Given the description of an element on the screen output the (x, y) to click on. 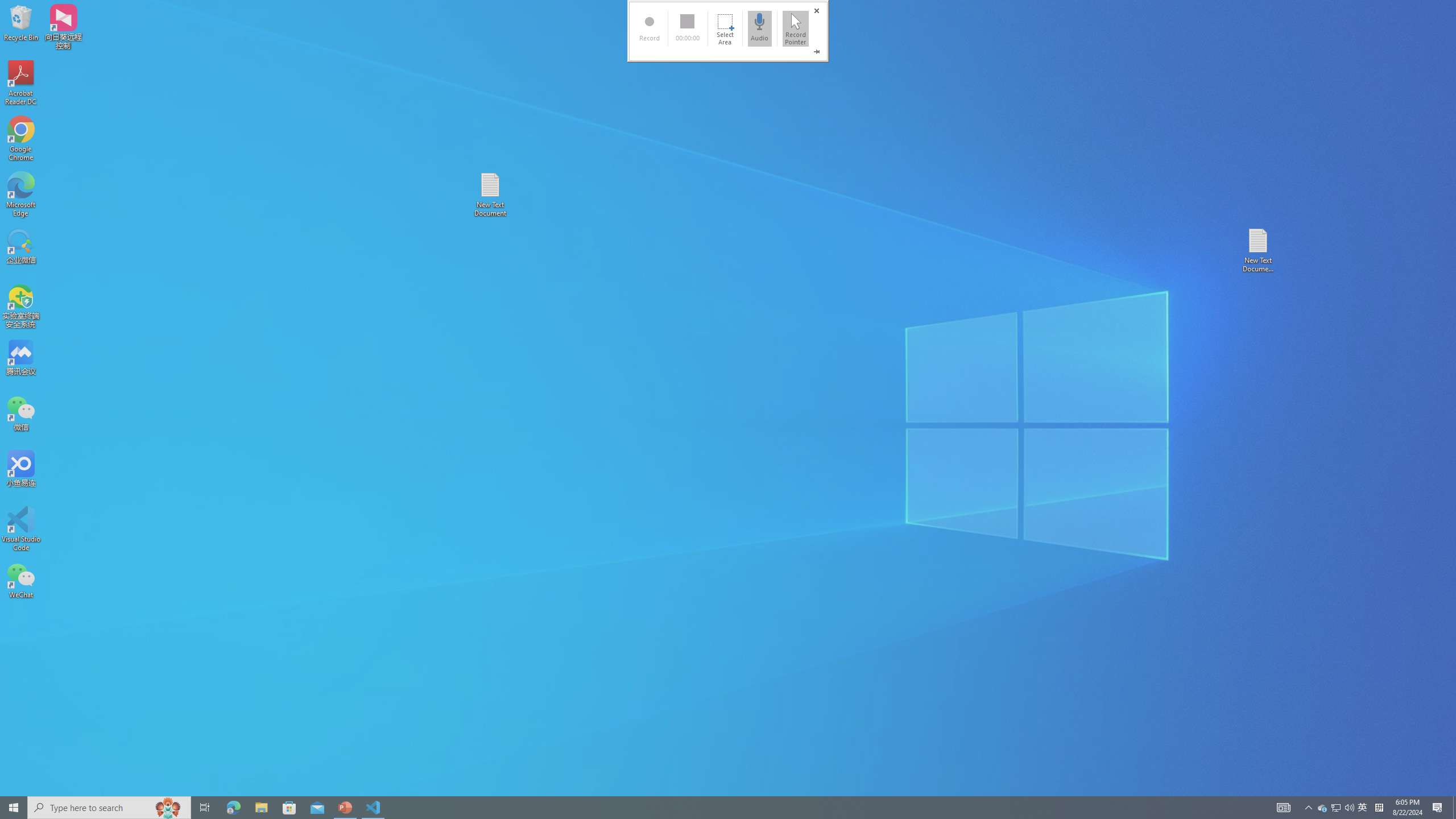
Select Area (724, 28)
MiniBar (727, 31)
Close (Windows logo key+Shift+Q) (816, 11)
Record Pointer (795, 28)
Pin the Dock (Windows logo key+Shift+I) (816, 51)
00:00:00 (686, 28)
